Given the description of an element on the screen output the (x, y) to click on. 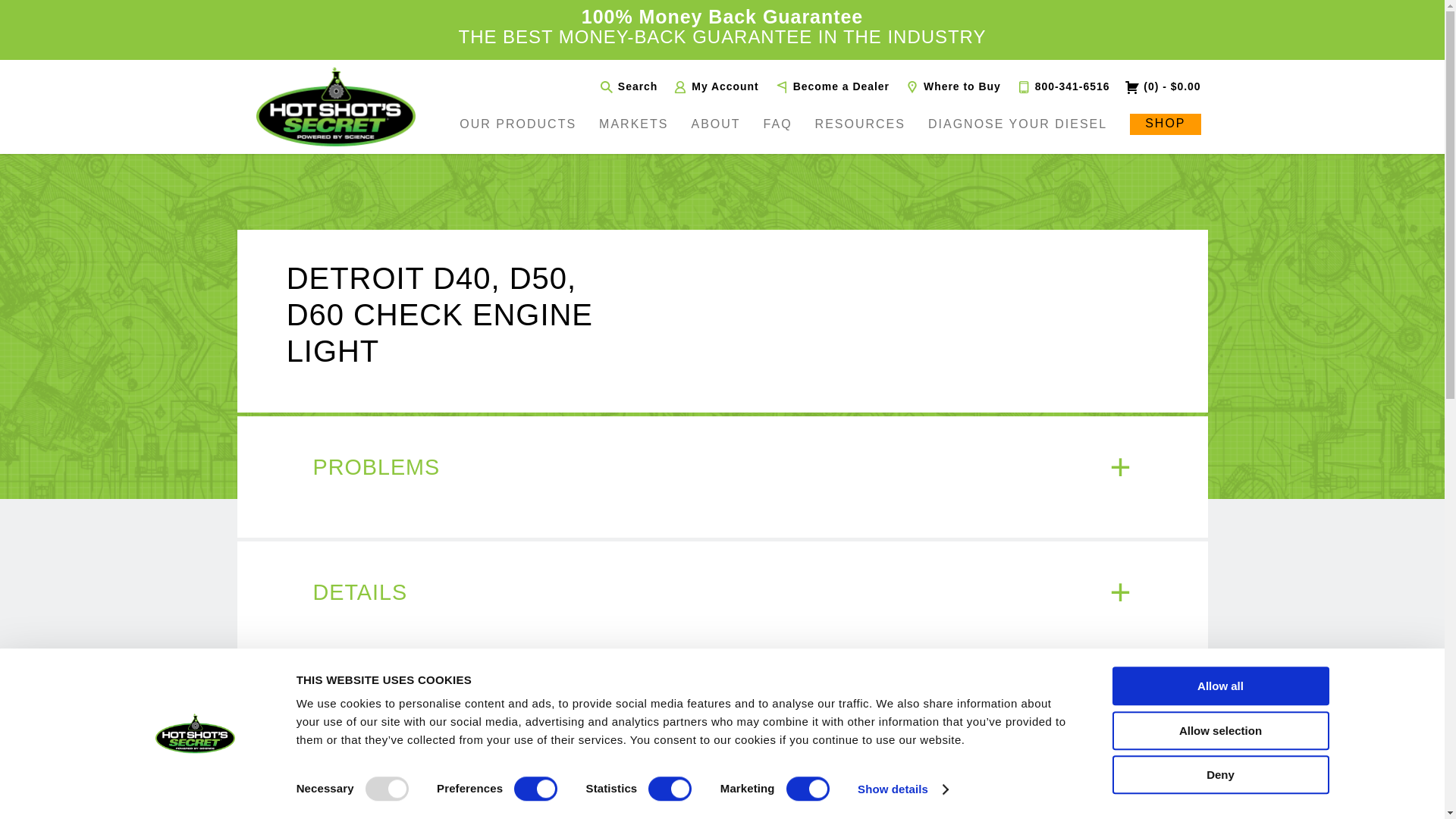
Show details (902, 789)
